Given the description of an element on the screen output the (x, y) to click on. 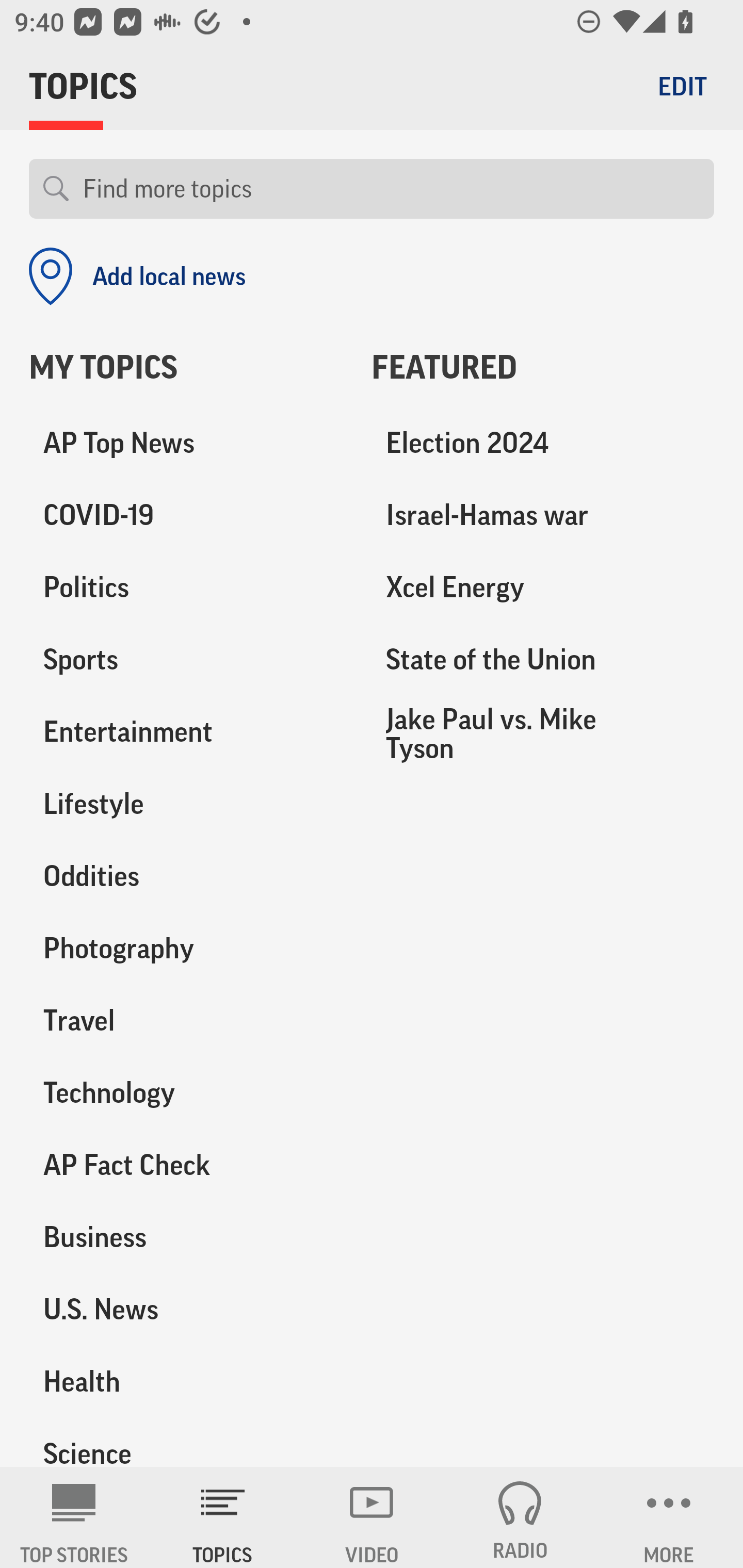
EDIT (682, 86)
Find more topics (391, 188)
Add local news (137, 276)
AP Top News (185, 443)
Election 2024 (542, 443)
COVID-19 (185, 515)
Israel-Hamas war (542, 515)
Politics (185, 587)
Xcel Energy (542, 587)
Sports (185, 660)
State of the Union (542, 660)
Entertainment (185, 732)
Jake Paul vs. Mike Tyson (542, 733)
Lifestyle (185, 804)
Oddities (185, 876)
Photography (185, 948)
Travel (185, 1020)
Technology (185, 1092)
AP Fact Check (185, 1164)
Business (185, 1237)
U.S. News (185, 1309)
Health (185, 1381)
Science (185, 1442)
AP News TOP STORIES (74, 1517)
TOPICS (222, 1517)
VIDEO (371, 1517)
RADIO (519, 1517)
MORE (668, 1517)
